Given the description of an element on the screen output the (x, y) to click on. 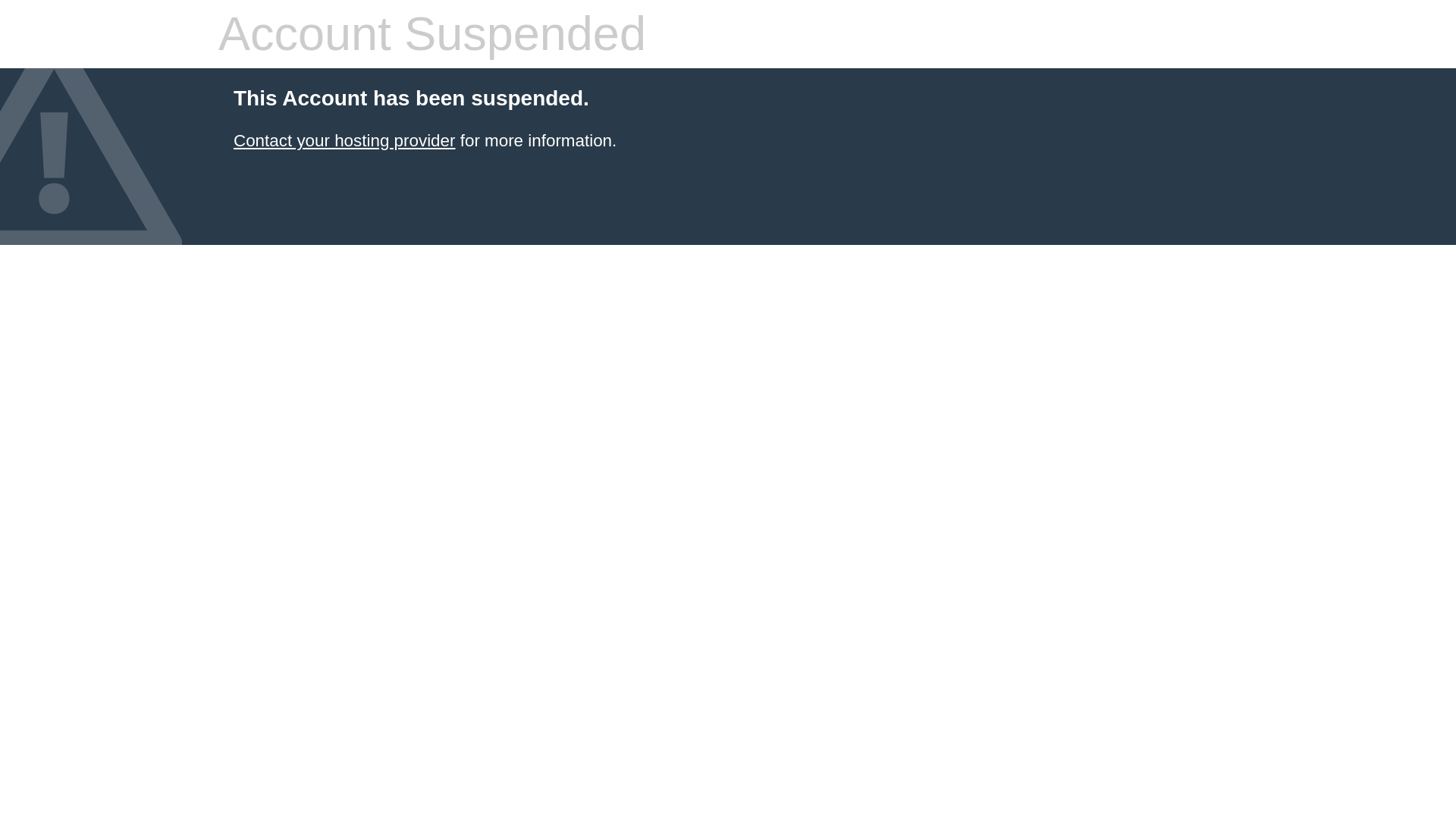
Contact your hosting provider (343, 140)
